Given the description of an element on the screen output the (x, y) to click on. 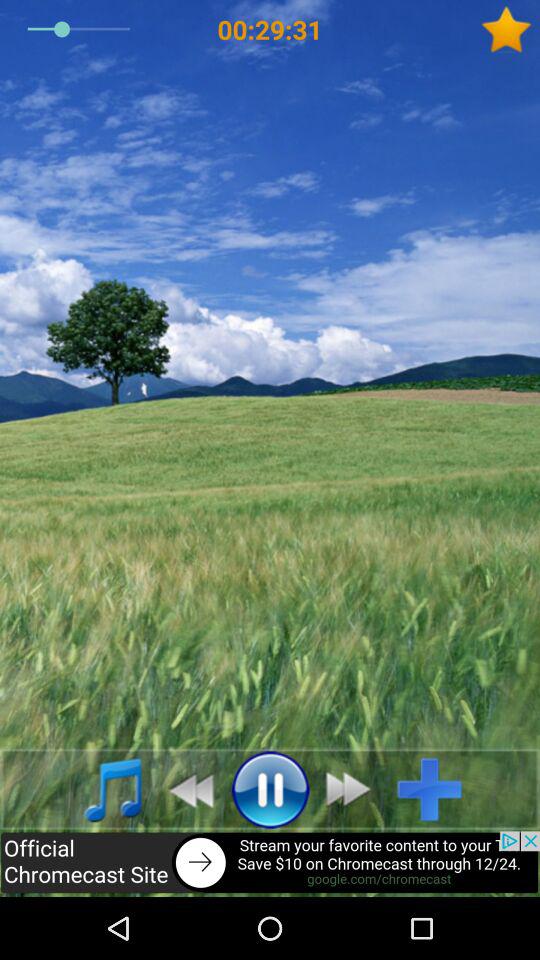
go to back (270, 864)
